Given the description of an element on the screen output the (x, y) to click on. 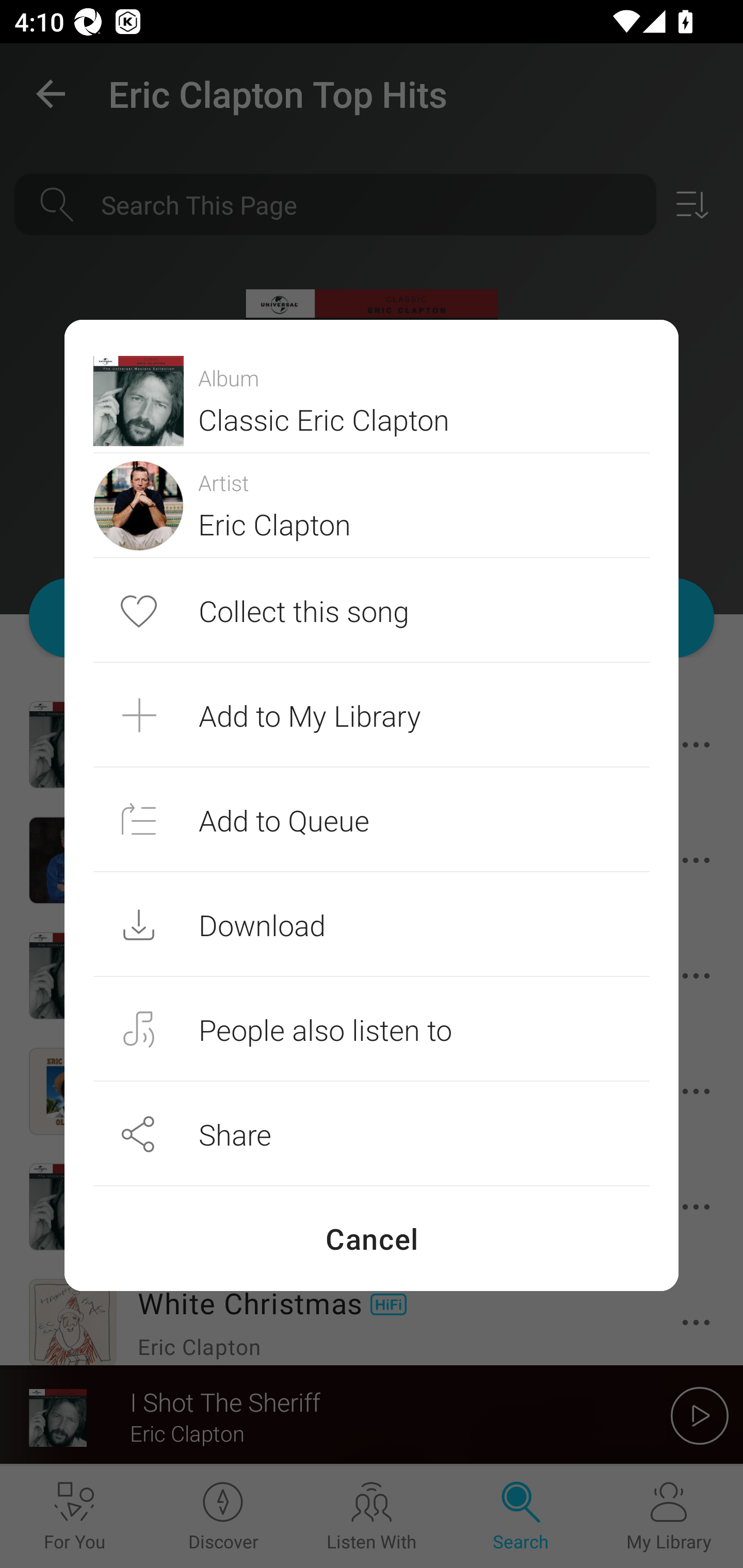
Album Classic Eric Clapton (371, 400)
Artist Eric Clapton (371, 505)
Collect this song (371, 610)
Add to My Library (371, 714)
Add to Queue (371, 818)
Download (371, 923)
People also listen to (371, 1028)
Share (371, 1133)
Cancel (371, 1238)
